Given the description of an element on the screen output the (x, y) to click on. 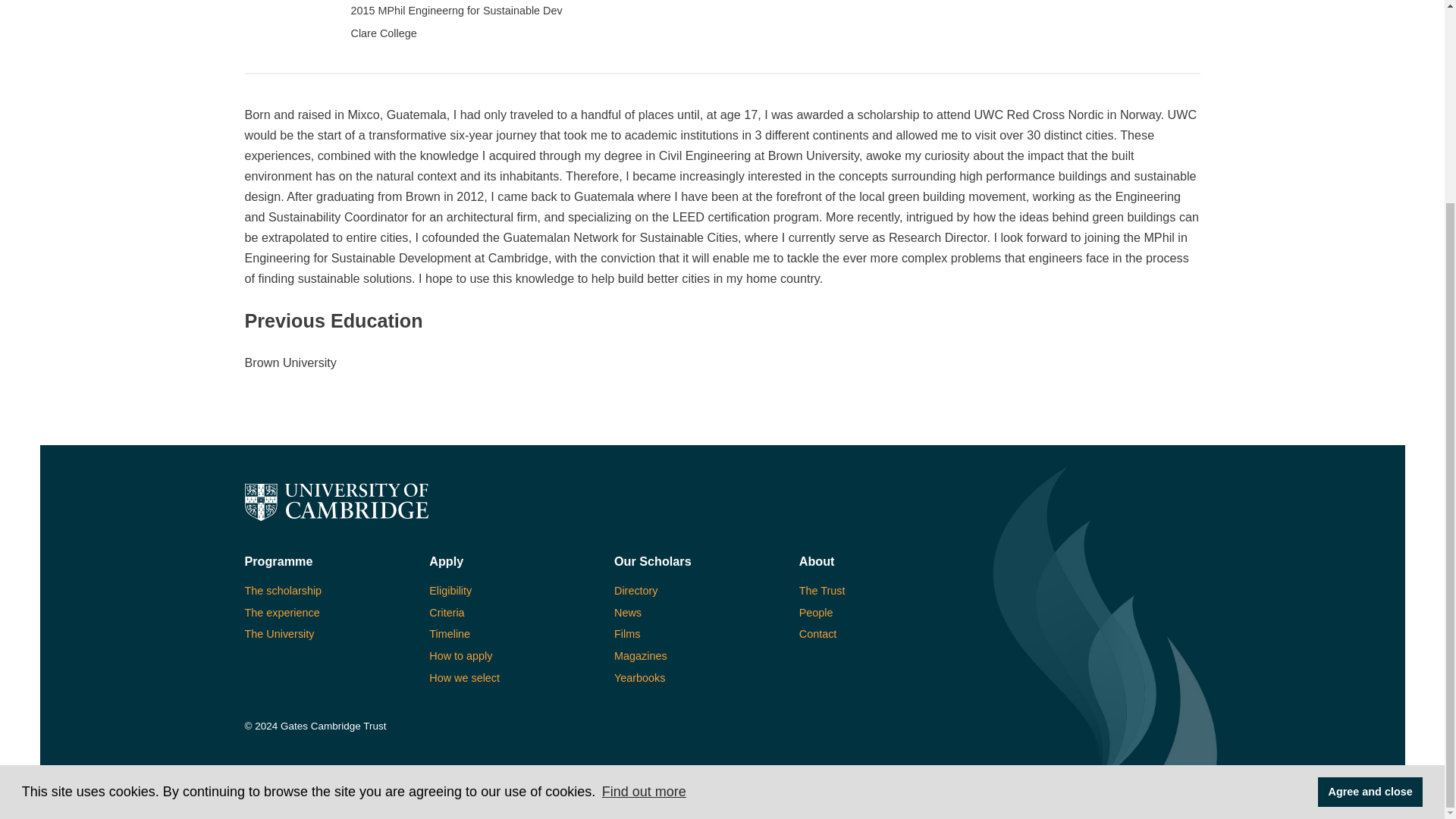
Agree and close (1369, 531)
Find out more (643, 531)
